Given the description of an element on the screen output the (x, y) to click on. 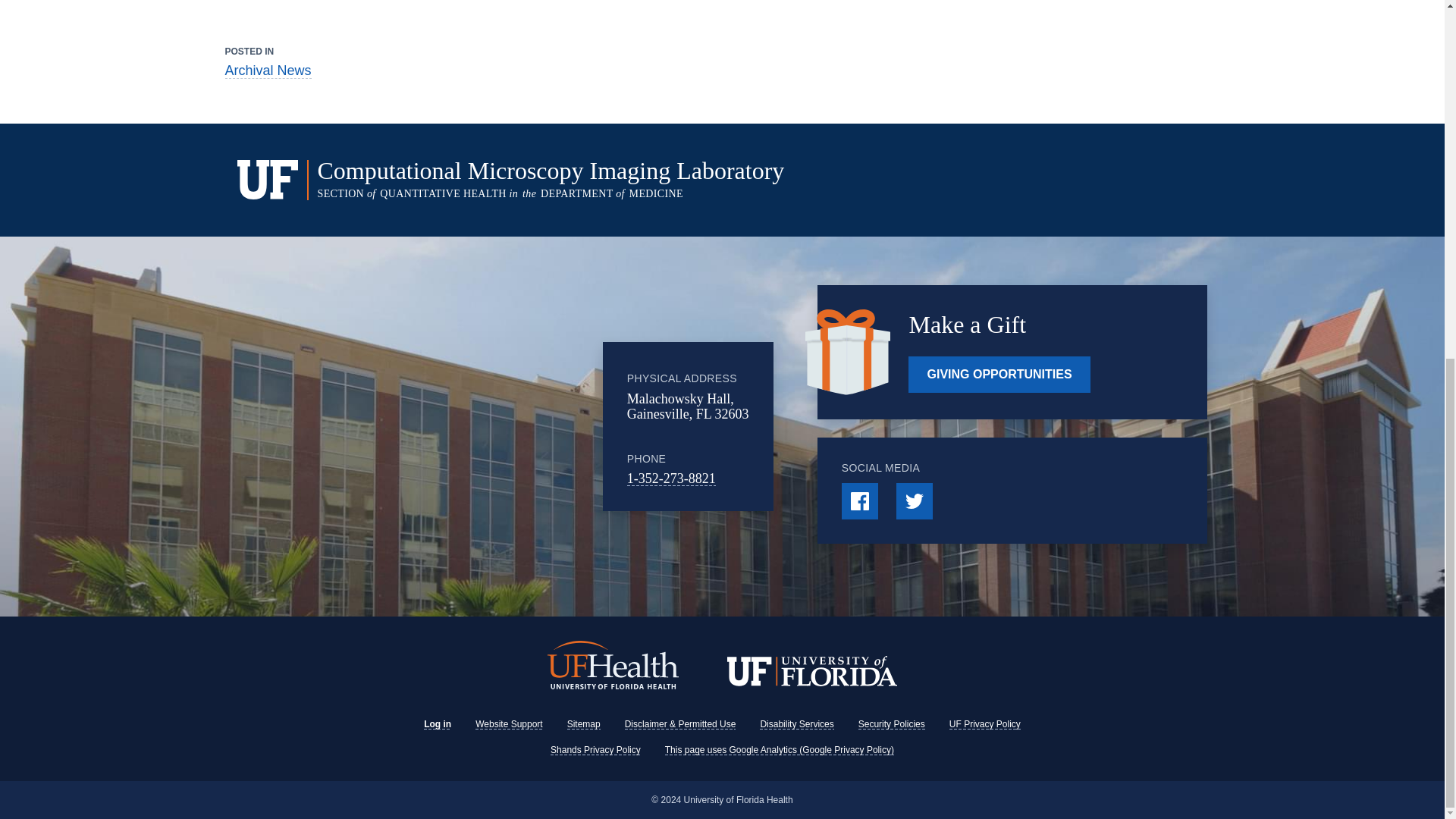
Website Support (509, 724)
UF Privacy Policy (984, 724)
Security Policies (891, 724)
Disability Services (796, 724)
Sitemap (583, 724)
1-352-273-8821 (671, 478)
Google Maps Embed (478, 426)
Shands Privacy Policy (595, 749)
Log in (437, 724)
